Given the description of an element on the screen output the (x, y) to click on. 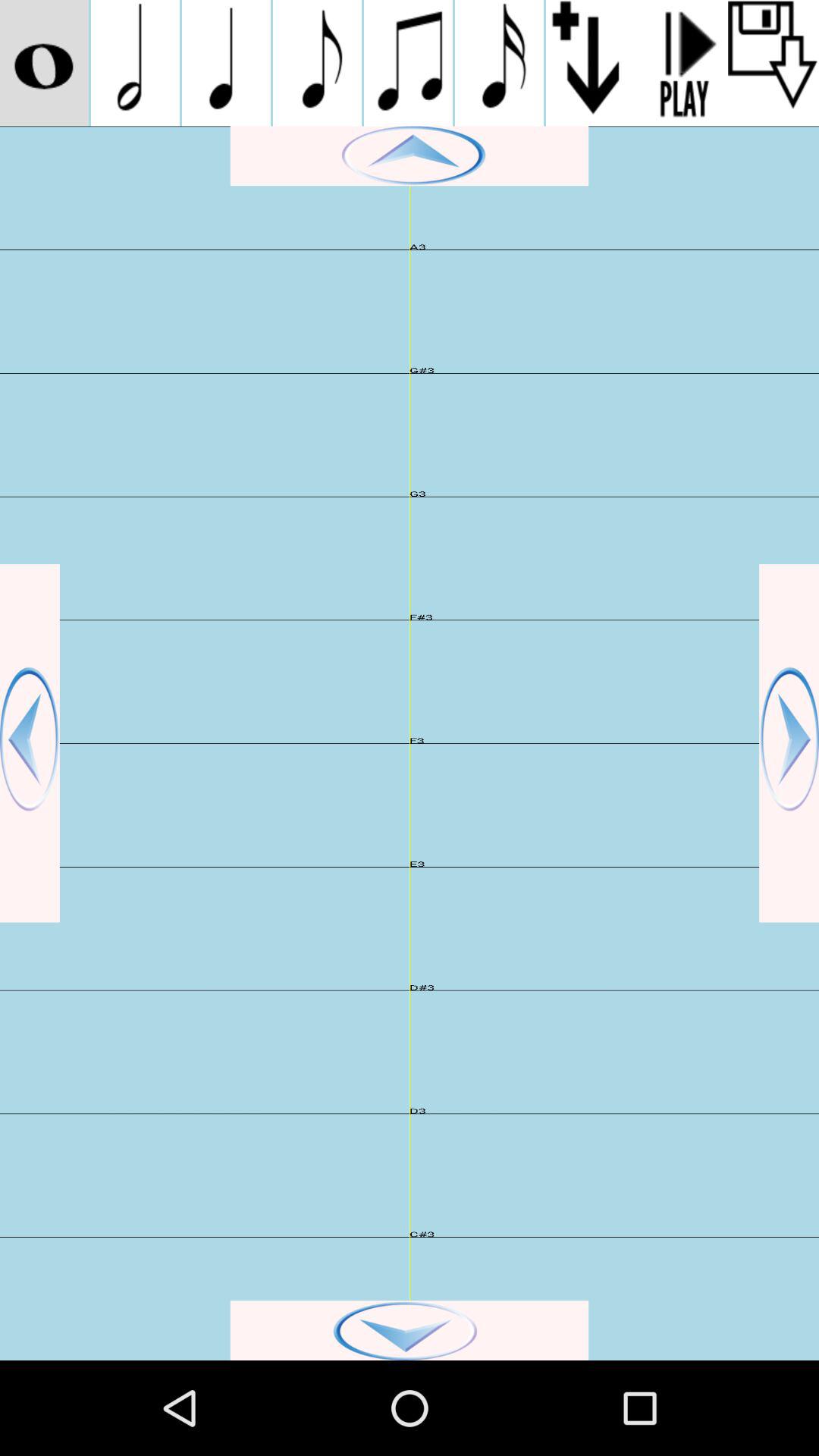
play (409, 155)
